Given the description of an element on the screen output the (x, y) to click on. 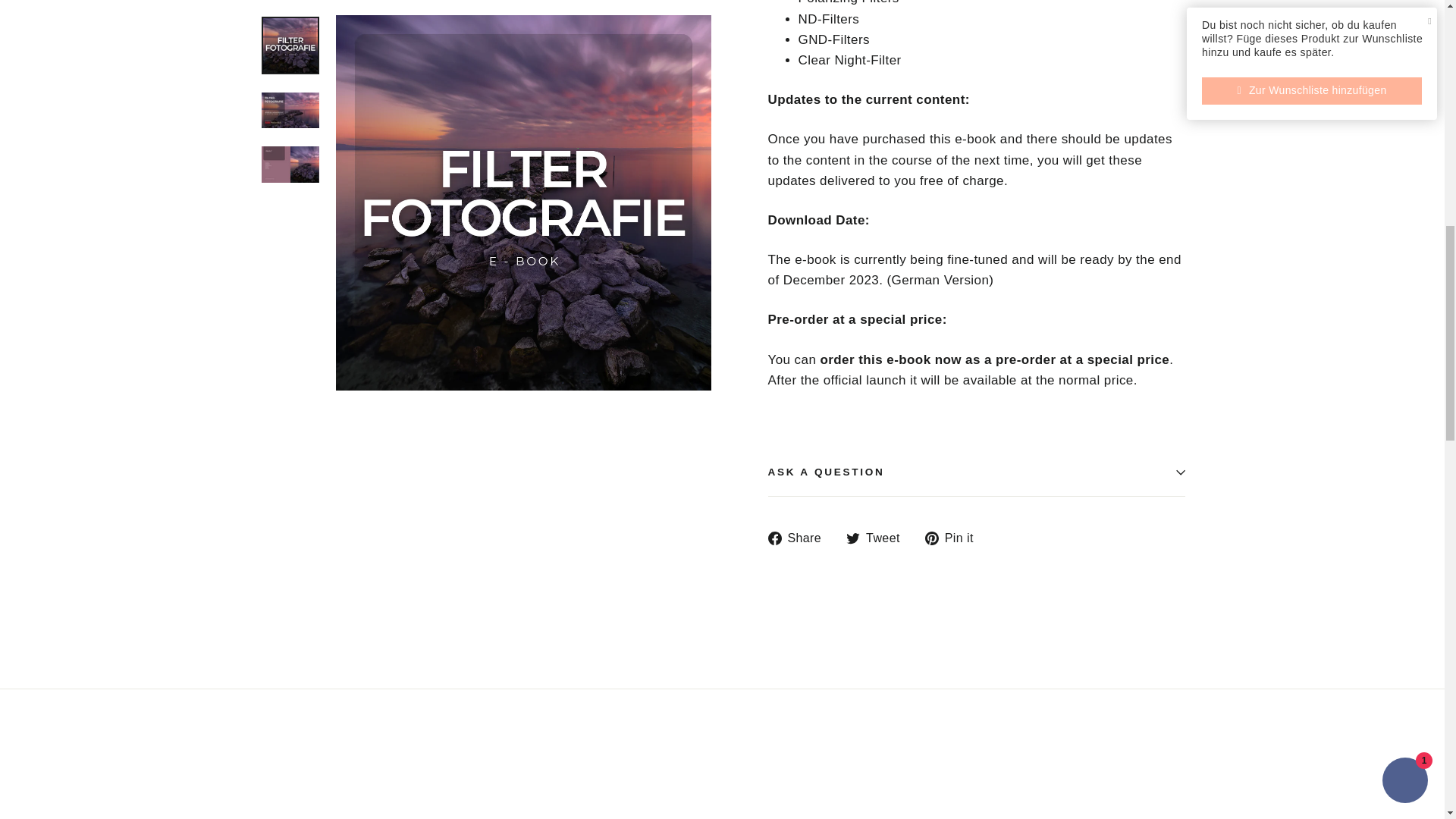
Tweet on Twitter (878, 537)
twitter (852, 538)
Share on Facebook (799, 537)
Pin on Pinterest (954, 537)
